Given the description of an element on the screen output the (x, y) to click on. 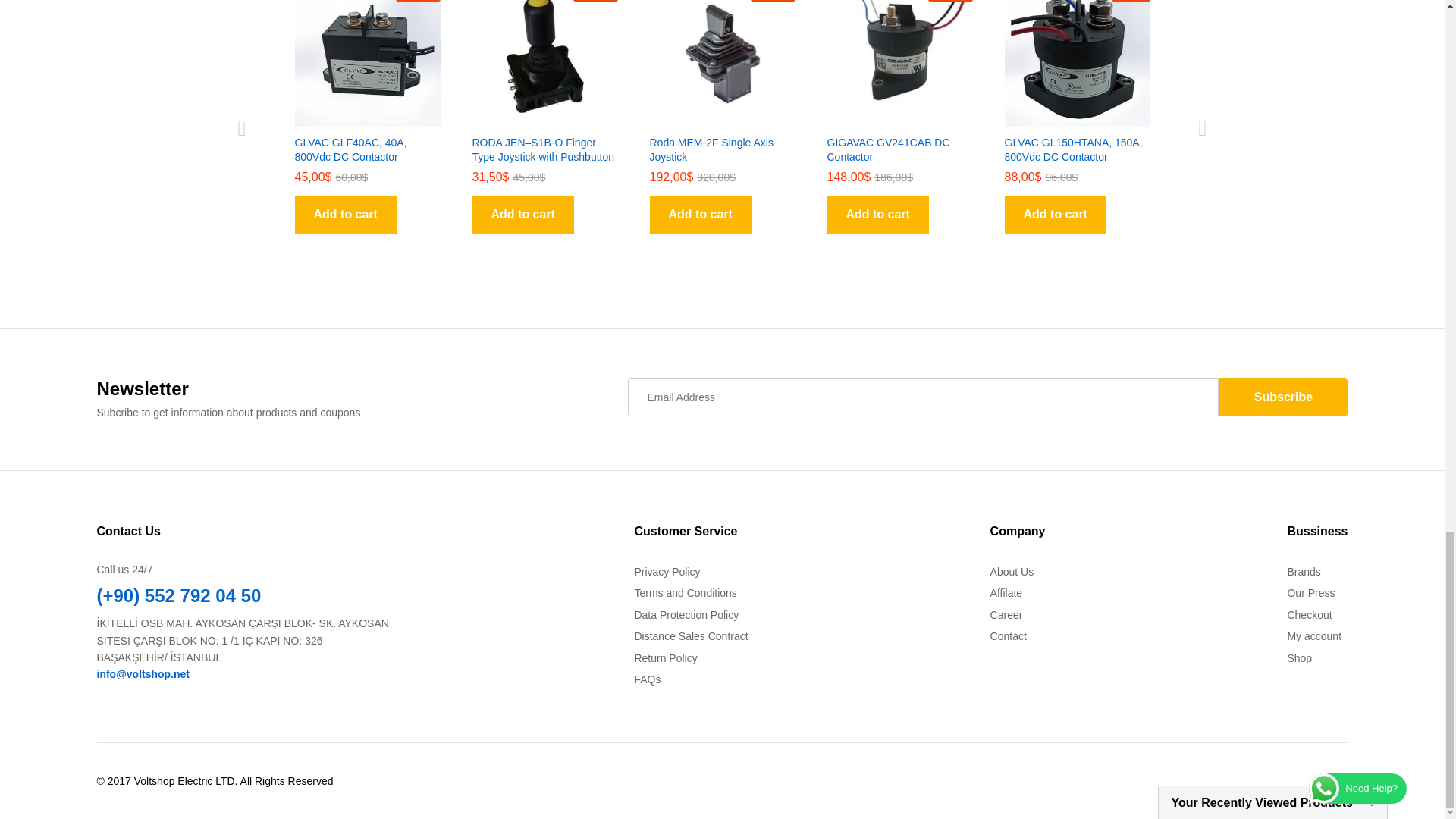
Subscribe (1283, 397)
